Given the description of an element on the screen output the (x, y) to click on. 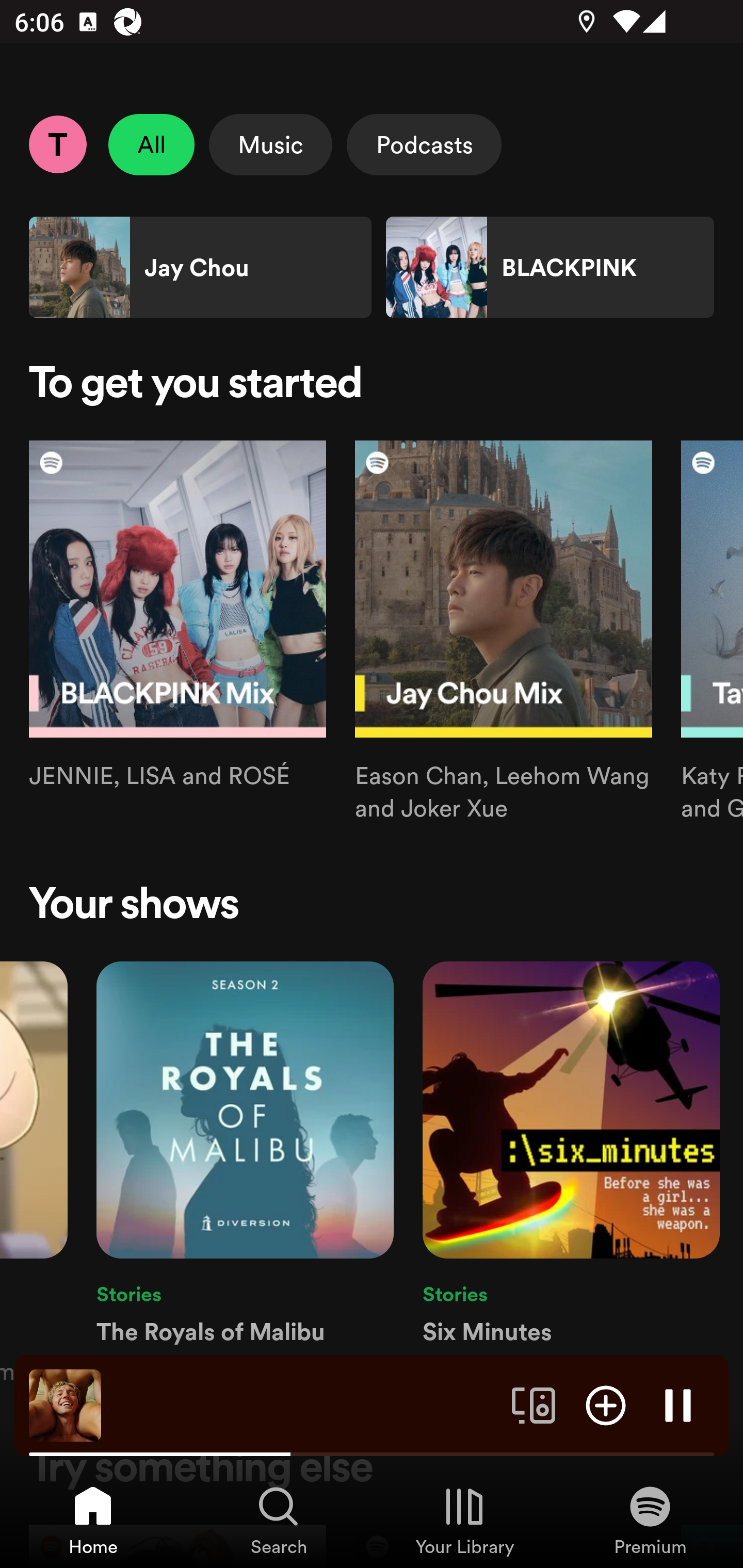
Profile (57, 144)
All Unselect All (151, 144)
Music Select Music (270, 144)
Podcasts Select Podcasts (423, 144)
Jay Chou Shortcut Jay Chou (199, 267)
BLACKPINK Shortcut BLACKPINK (549, 267)
Stories The Royals of Malibu Show • Diversion (244, 1174)
Stories Six Minutes Show • GZM Shows (570, 1174)
The cover art of the currently playing track (64, 1404)
Connect to a device. Opens the devices menu (533, 1404)
Add item (605, 1404)
Pause (677, 1404)
Home, Tab 1 of 4 Home Home (92, 1519)
Search, Tab 2 of 4 Search Search (278, 1519)
Your Library, Tab 3 of 4 Your Library Your Library (464, 1519)
Premium, Tab 4 of 4 Premium Premium (650, 1519)
